Given the description of an element on the screen output the (x, y) to click on. 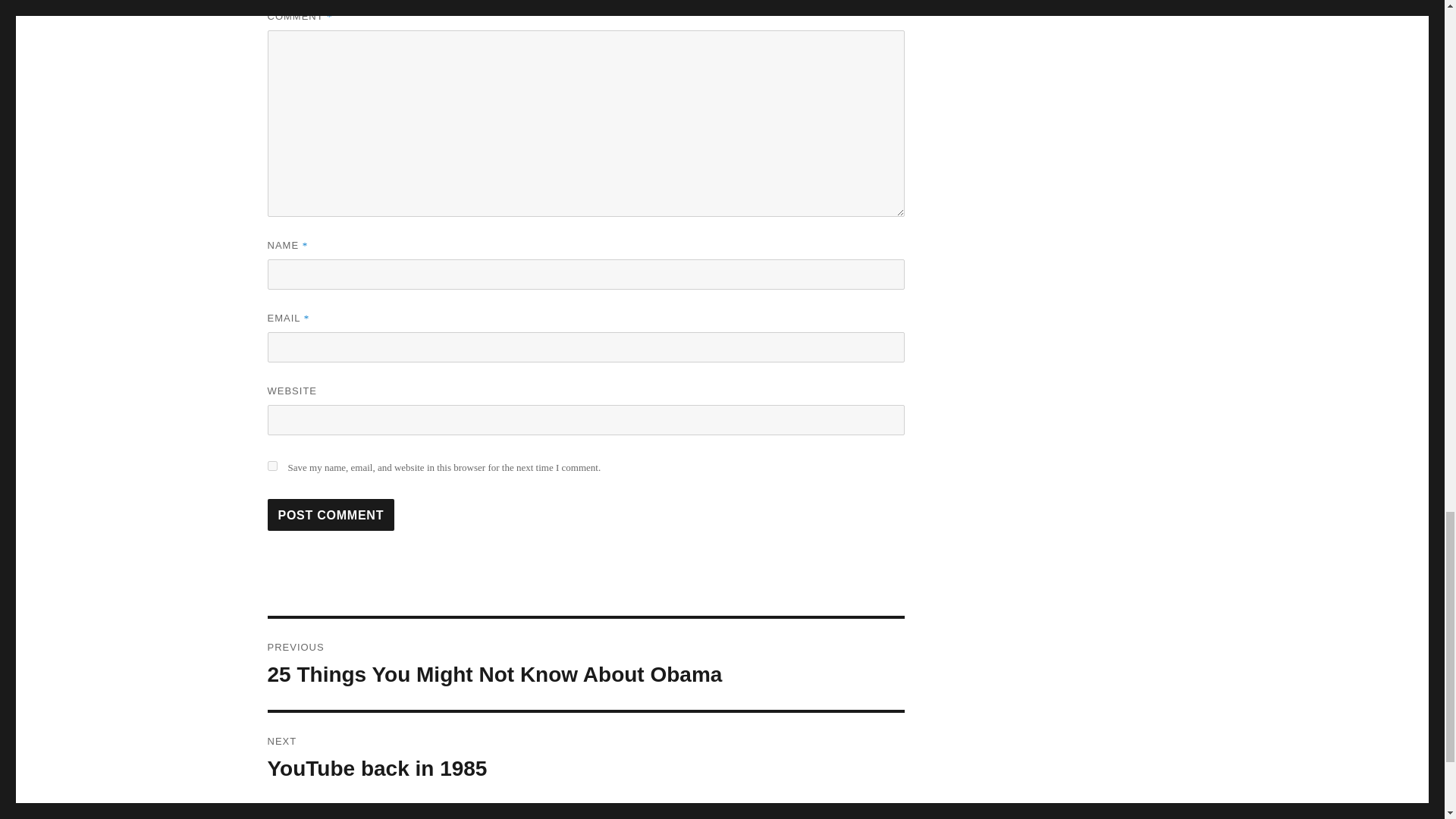
Post Comment (330, 514)
yes (271, 465)
Post Comment (330, 514)
